Given the description of an element on the screen output the (x, y) to click on. 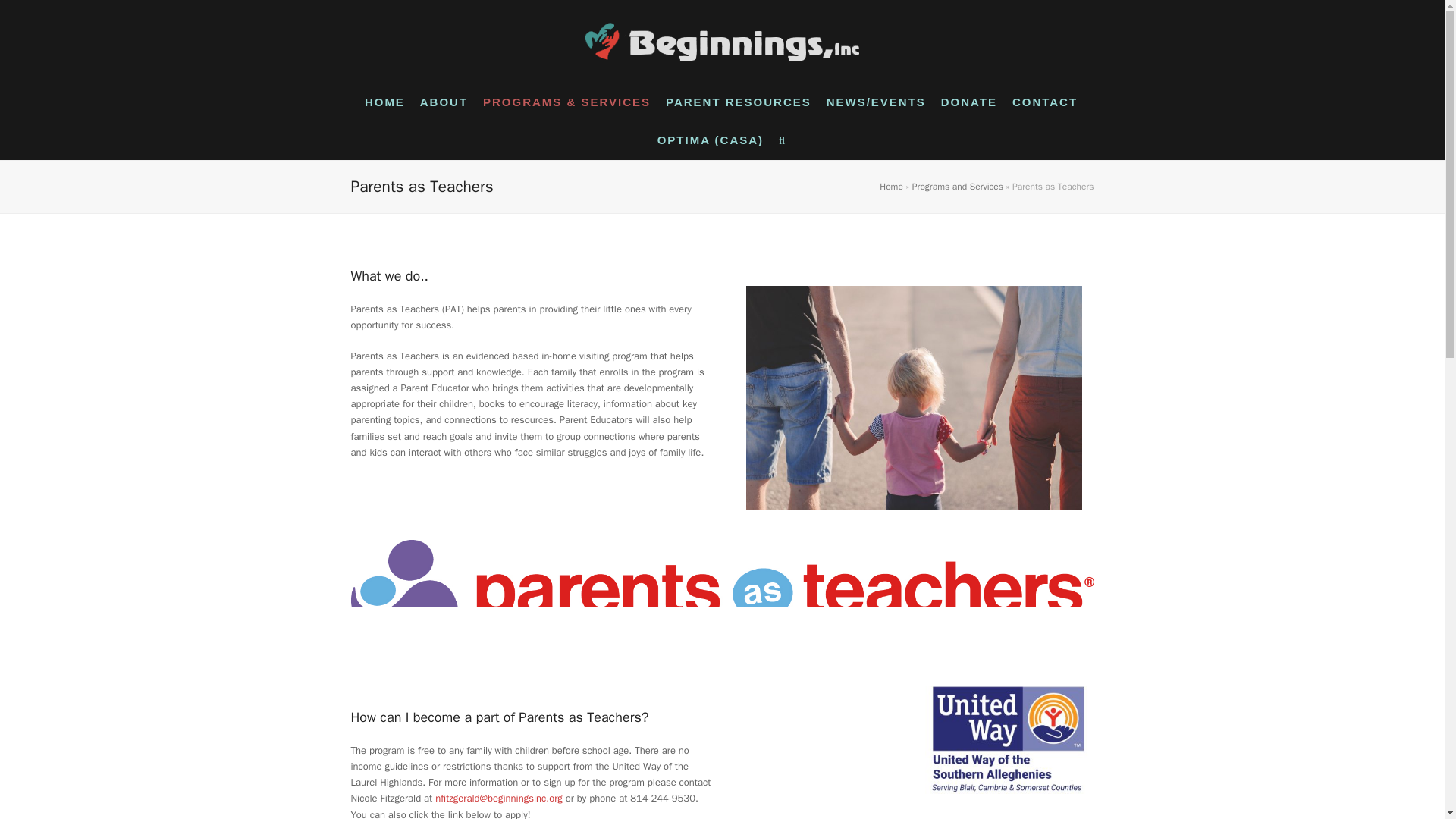
HOME (385, 103)
ABOUT (444, 103)
PARENT RESOURCES (739, 103)
DONATE (970, 103)
CONTACT (1045, 103)
